Given the description of an element on the screen output the (x, y) to click on. 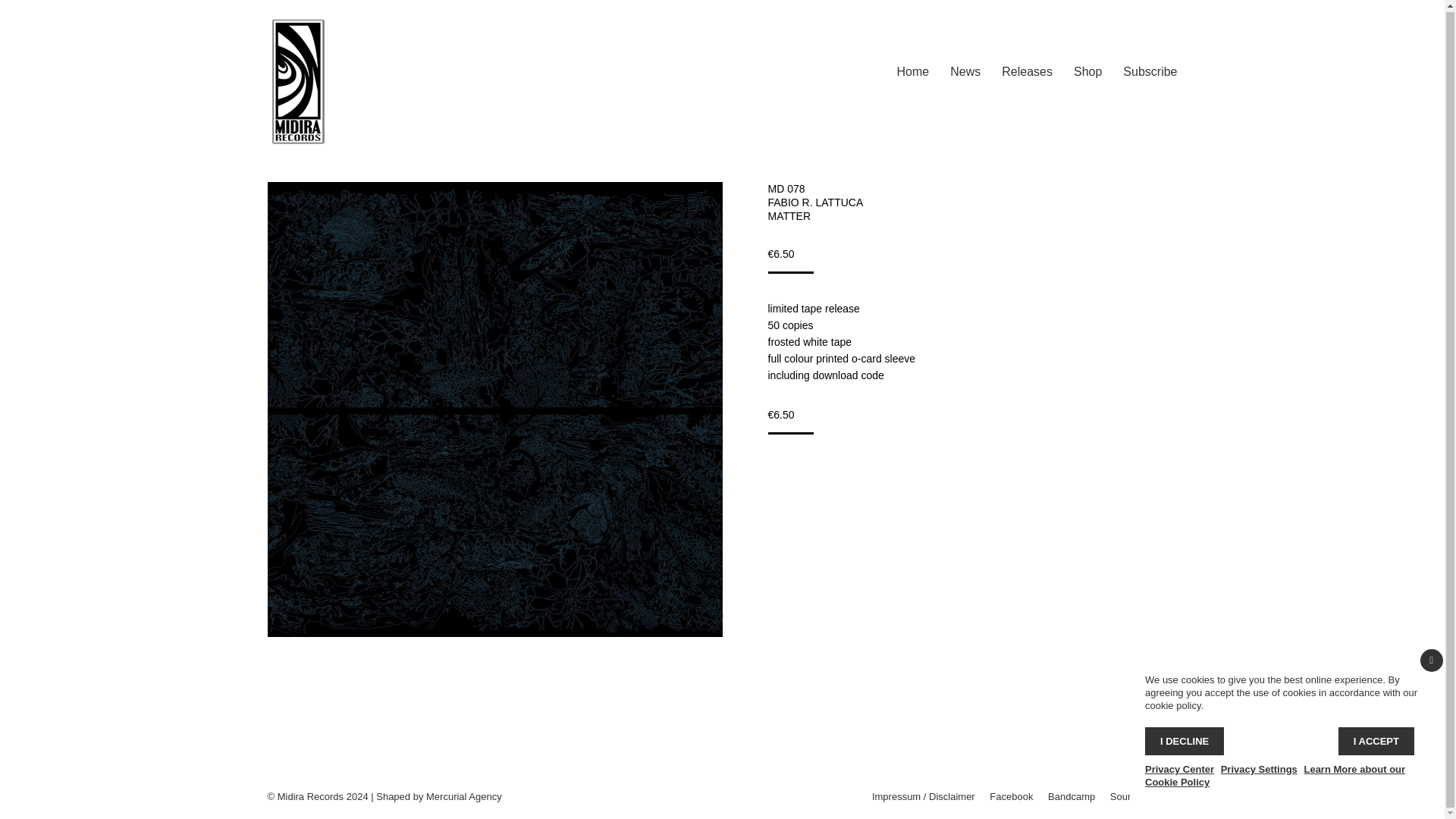
Soundcloud (1135, 796)
Bandcamp (1071, 796)
Facebook (1011, 796)
I DECLINE (1184, 740)
Privacy Settings (1259, 767)
Learn More about our Cookie Policy (1274, 774)
Privacy Center (1179, 767)
I ACCEPT (1375, 740)
Mercurial Agency (464, 796)
